Given the description of an element on the screen output the (x, y) to click on. 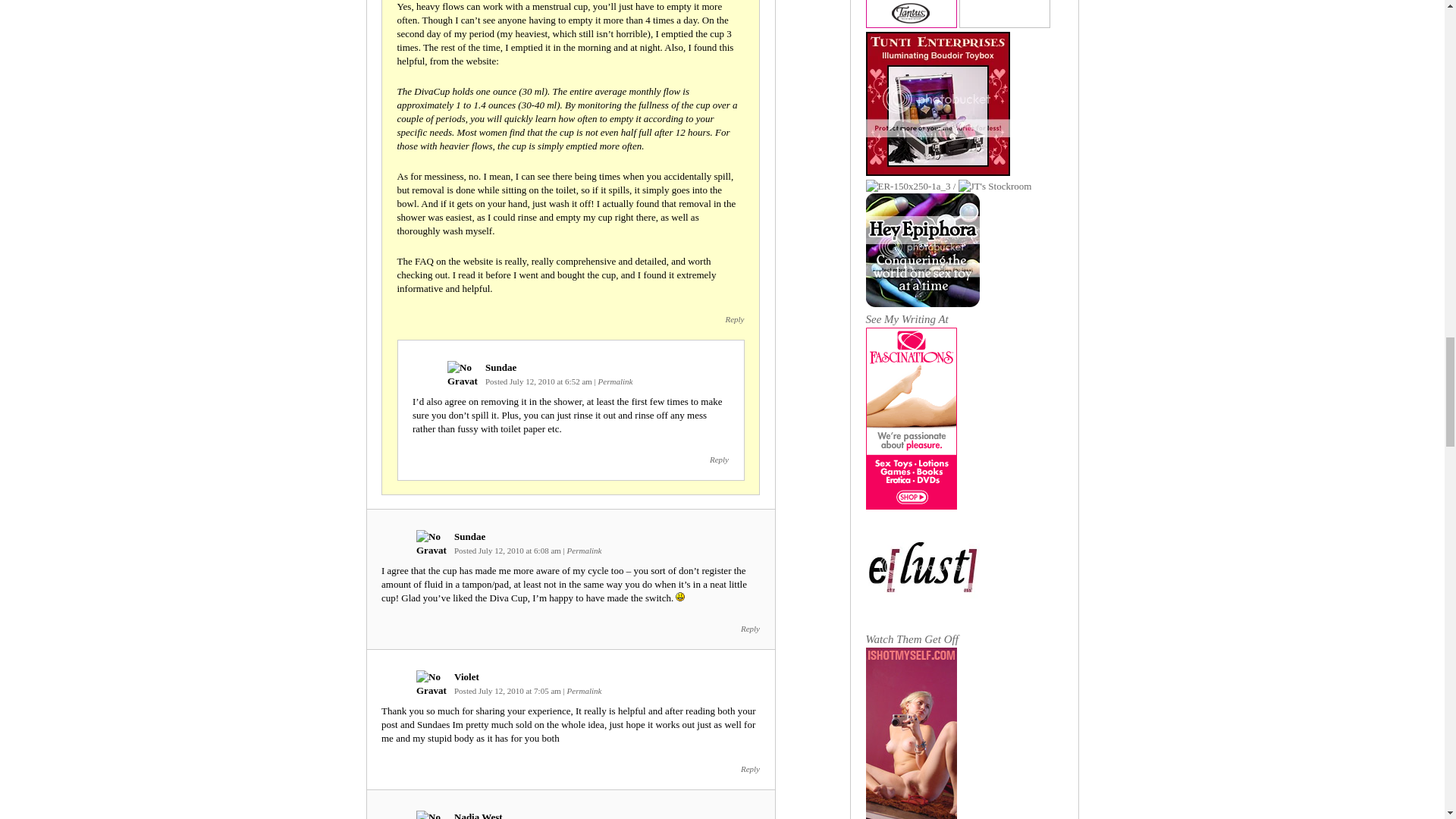
Permalink (584, 690)
Permalink (615, 380)
Permalink (584, 550)
